Given the description of an element on the screen output the (x, y) to click on. 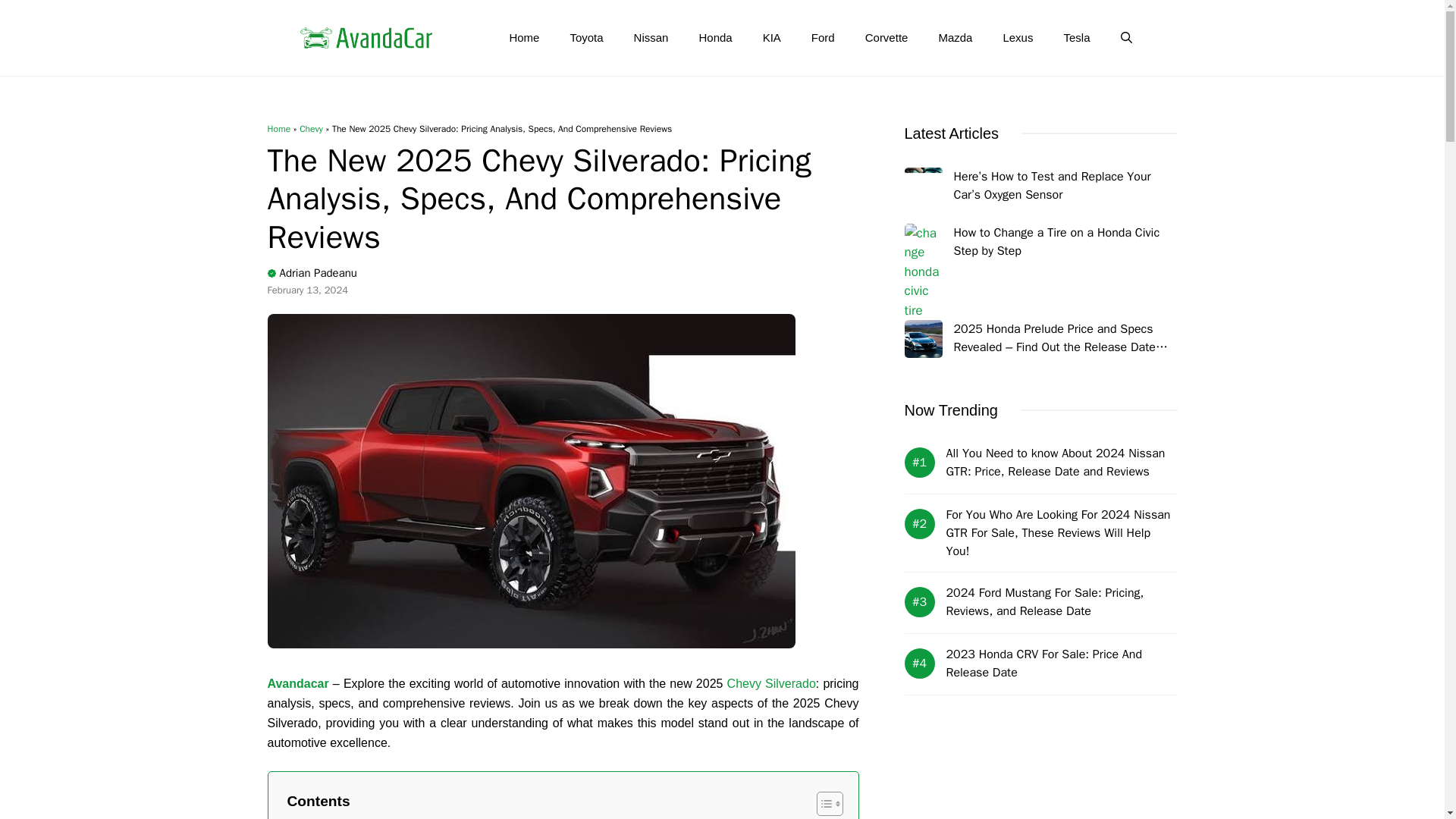
Corvette (886, 37)
Honda (714, 37)
Home (277, 128)
Mazda (955, 37)
Chevy Silverado (770, 683)
Lexus (1017, 37)
Toyota (585, 37)
Chevy (311, 128)
Nissan (651, 37)
Chevy Silverado (770, 683)
Tesla (1076, 37)
Adrian Padeanu (317, 273)
KIA (772, 37)
Ford (823, 37)
Avandacar (297, 683)
